Given the description of an element on the screen output the (x, y) to click on. 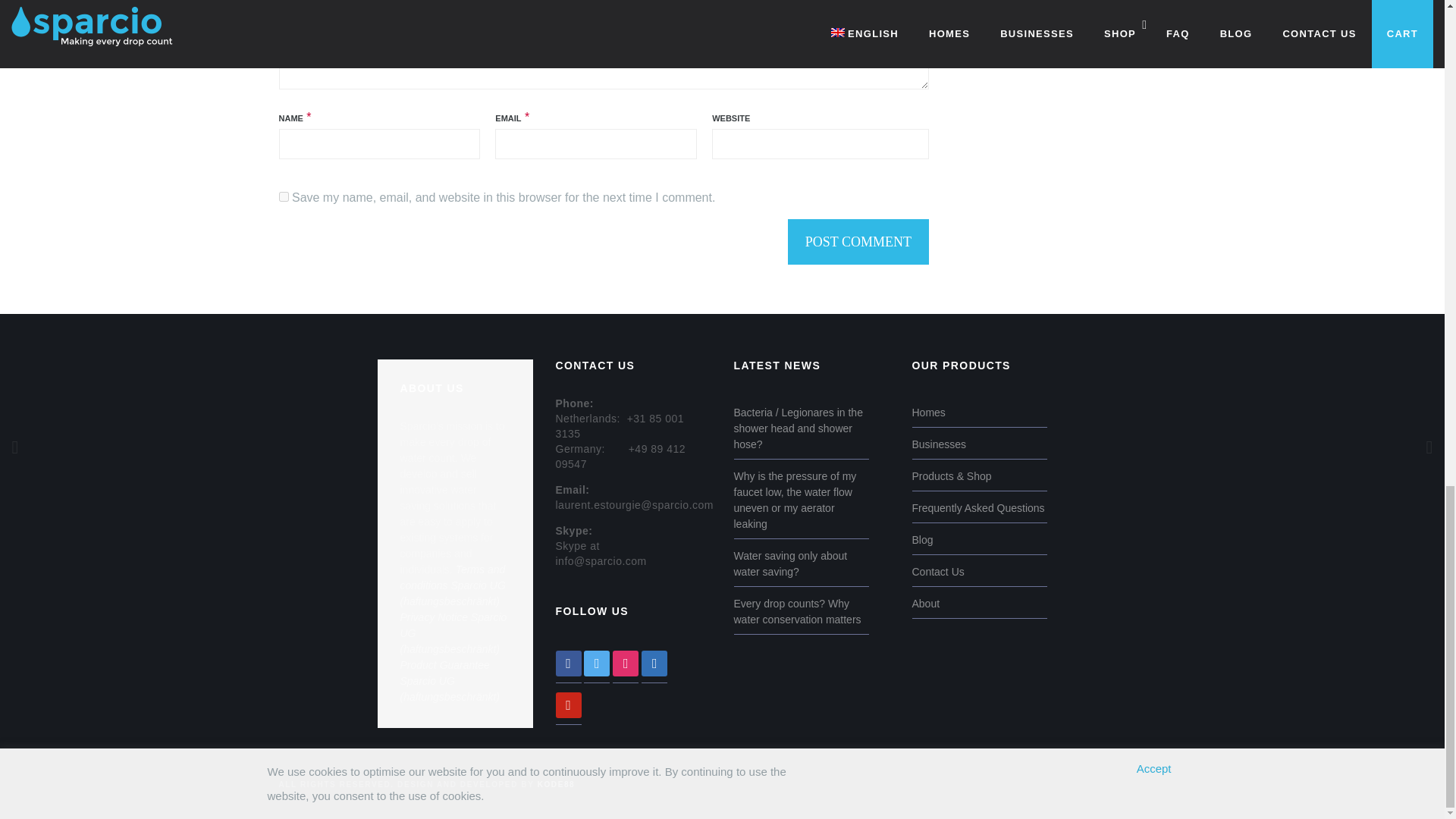
Facebook (567, 662)
yes (283, 196)
Default Label (567, 703)
Instagram (625, 662)
Twitter (596, 662)
Post Comment (857, 241)
Default Label (654, 662)
